Given the description of an element on the screen output the (x, y) to click on. 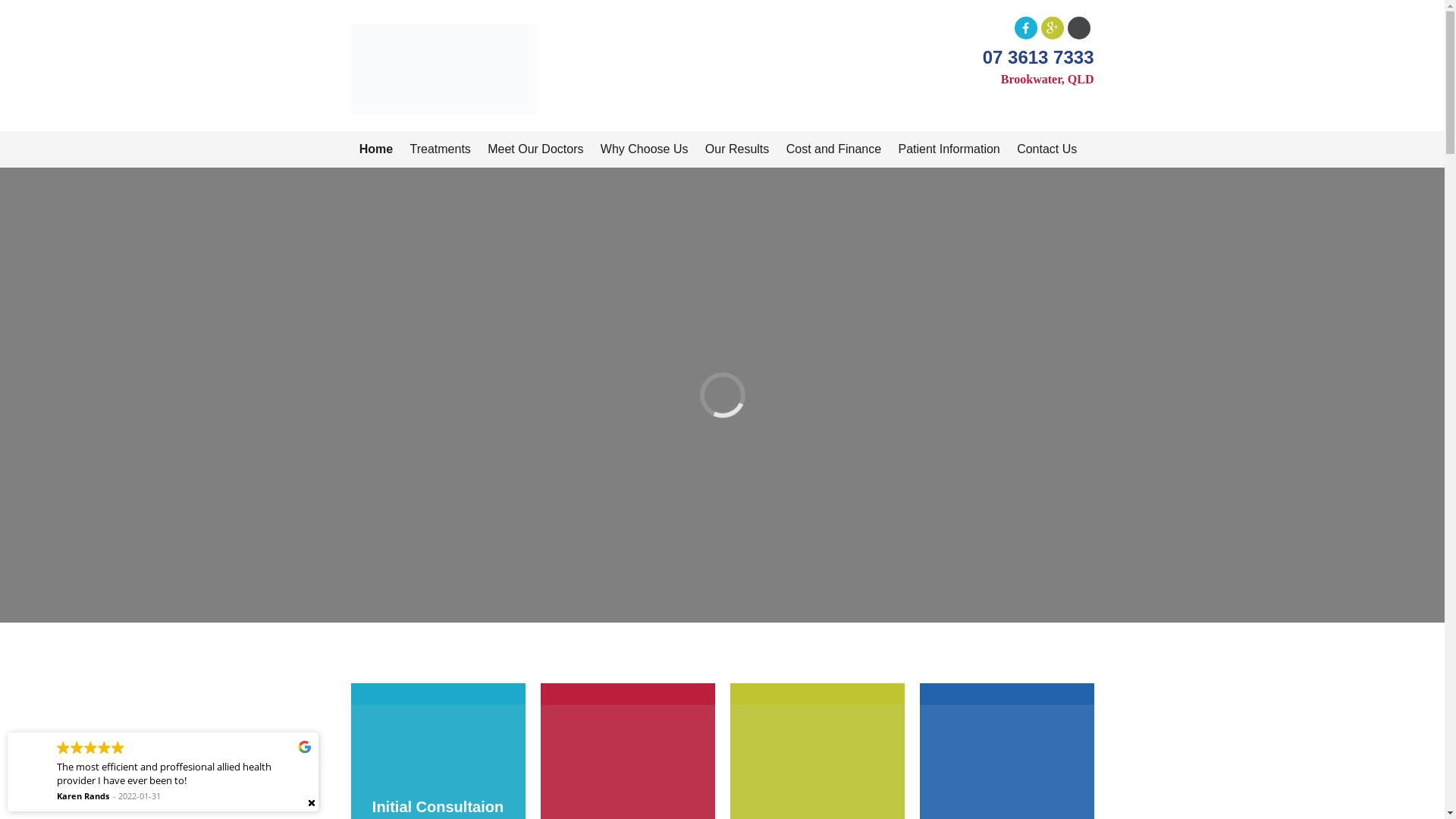
Why Choose Us Element type: text (644, 149)
Home Element type: text (375, 149)
Our Results Element type: text (737, 149)
Patient Information Element type: text (948, 149)
Cost and Finance Element type: text (833, 149)
Treatments Element type: text (440, 149)
Greater Springfield Orthodontics Element type: hover (443, 25)
Contact Us Element type: text (1046, 149)
Meet Our Doctors Element type: text (535, 149)
